Given the description of an element on the screen output the (x, y) to click on. 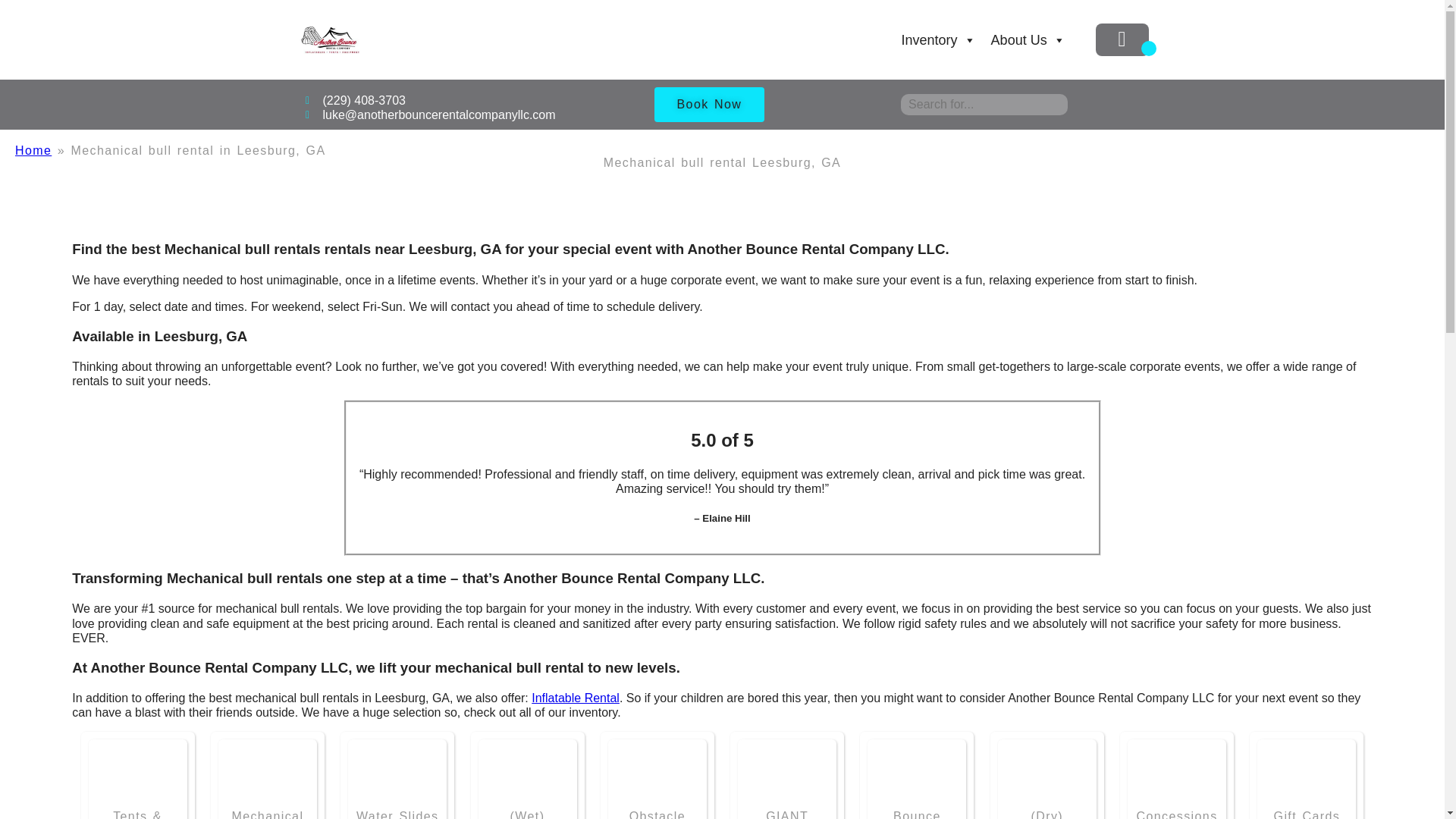
About Us (1028, 40)
Inventory (938, 40)
Book Now (709, 104)
Bounce Houses (916, 776)
GIANT Water Slides (786, 776)
Water Slides (397, 776)
Inflatable Rental (575, 697)
Home (32, 150)
Water Slides (397, 814)
Search (22, 9)
Obstacle Courses (657, 776)
